Given the description of an element on the screen output the (x, y) to click on. 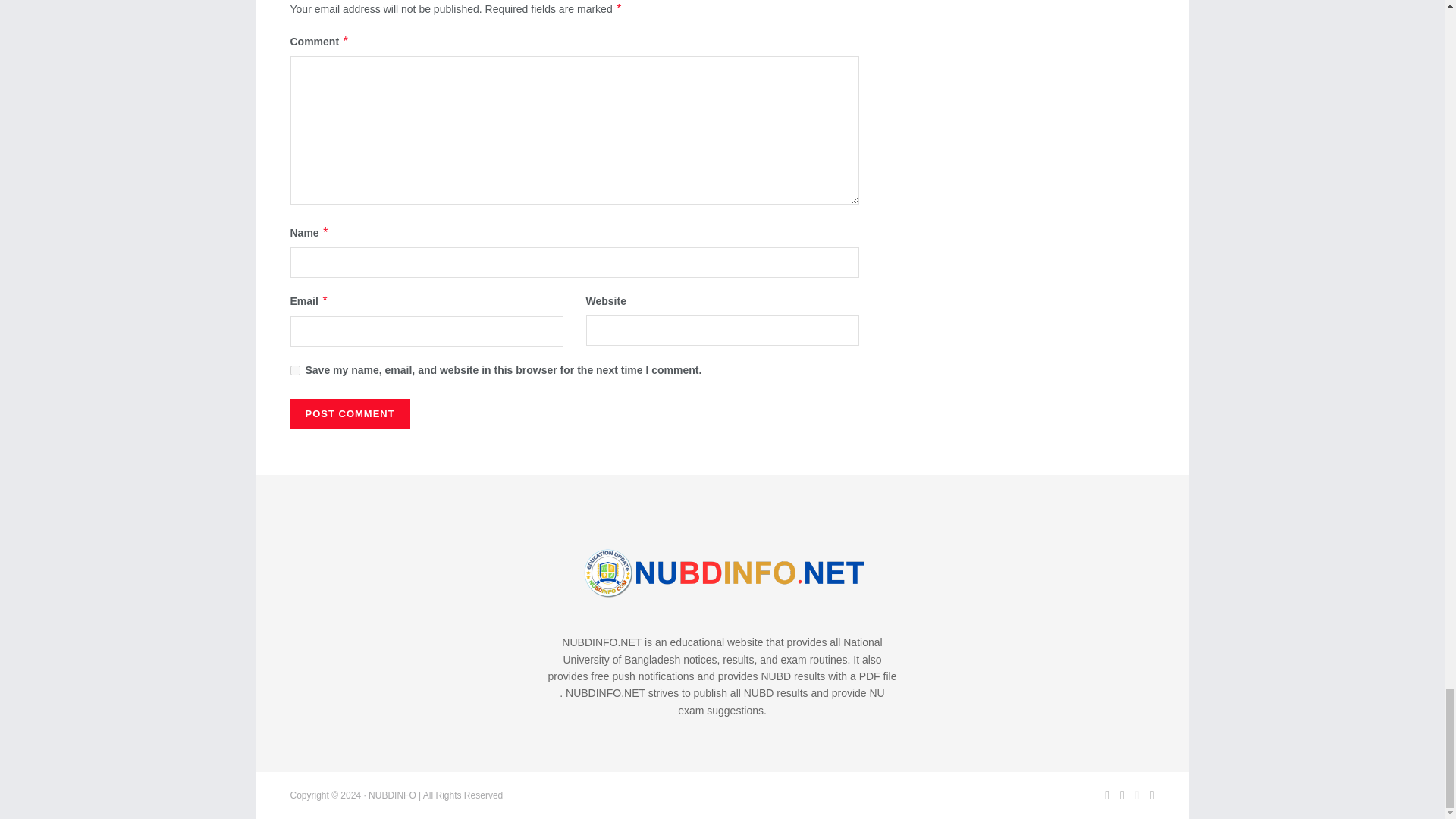
yes (294, 370)
Post Comment (349, 413)
